Given the description of an element on the screen output the (x, y) to click on. 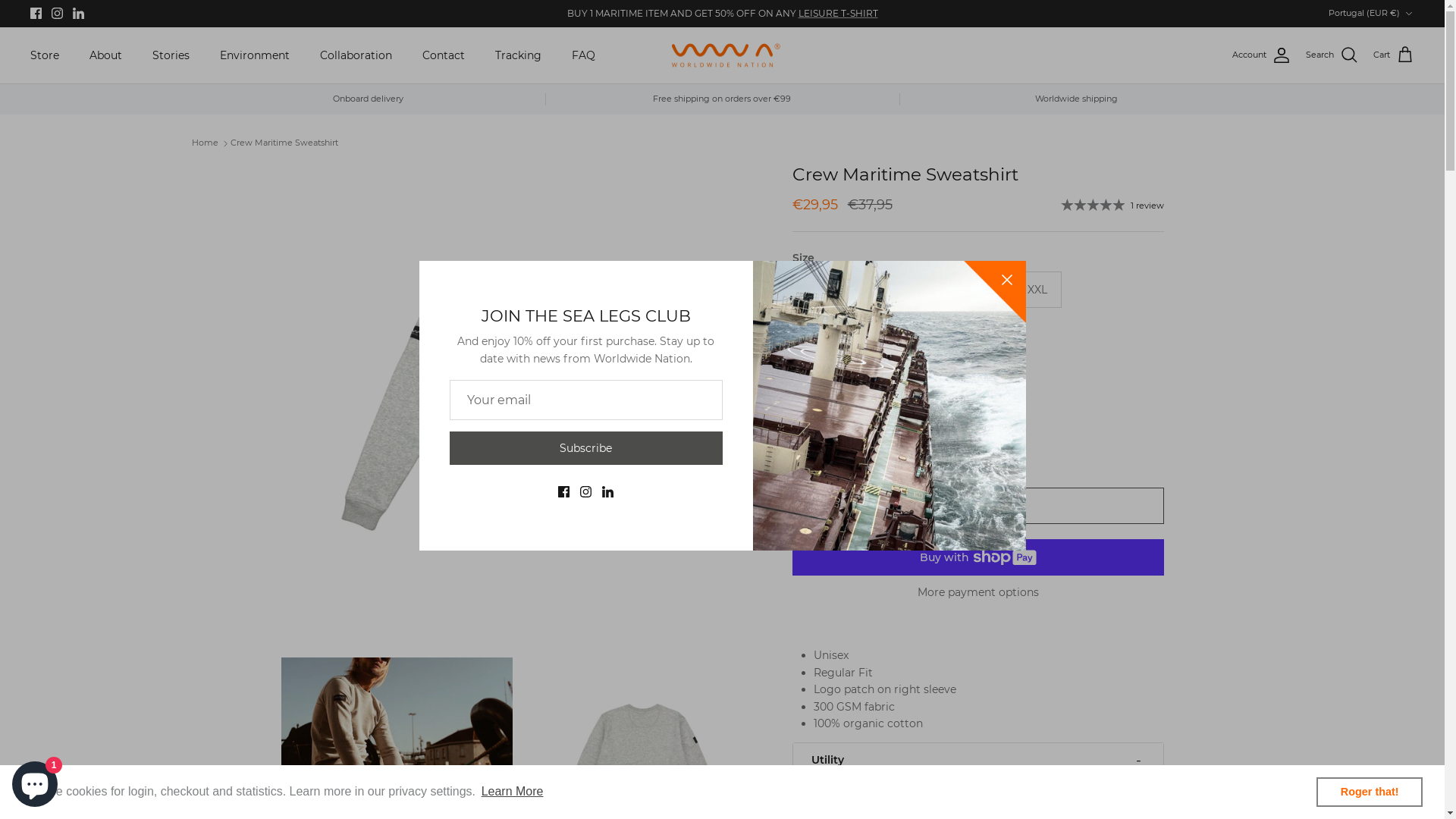
Store Element type: text (44, 55)
Worldwide Nation Element type: hover (722, 55)
Stories Element type: text (170, 55)
Roger that! Element type: text (1369, 791)
Shopify online store chat Element type: hover (34, 780)
Facebook Element type: text (35, 12)
FAQ Element type: text (583, 55)
Contact Element type: text (443, 55)
Search Element type: text (1331, 55)
Add to Cart Element type: text (977, 505)
Subscribe Element type: text (584, 447)
Environment Element type: text (254, 55)
Learn More Element type: text (511, 791)
Account Element type: text (1261, 55)
1 review Element type: text (1111, 204)
Instagram Element type: text (56, 12)
About Element type: text (105, 55)
Minus Element type: text (809, 438)
LEISURE T-SHIRT Element type: text (837, 12)
Home Element type: text (204, 142)
Collaboration Element type: text (355, 55)
Plus Element type: text (897, 438)
Tracking Element type: text (518, 55)
More payment options Element type: text (977, 592)
Cart Element type: text (1393, 55)
Crew Maritime Sweatshirt Element type: text (284, 142)
